Given the description of an element on the screen output the (x, y) to click on. 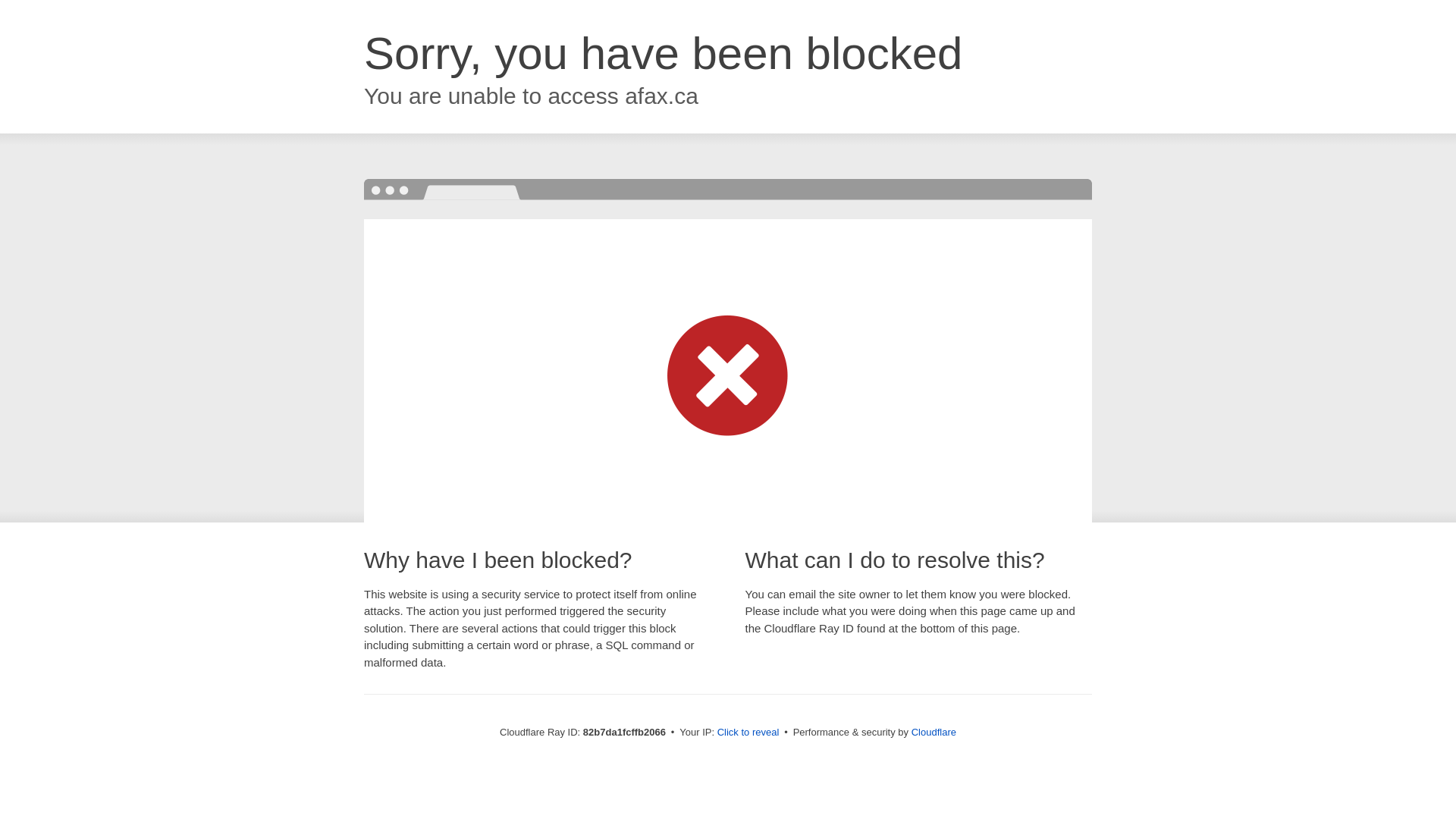
Cloudflare Element type: text (933, 731)
Click to reveal Element type: text (748, 732)
